Given the description of an element on the screen output the (x, y) to click on. 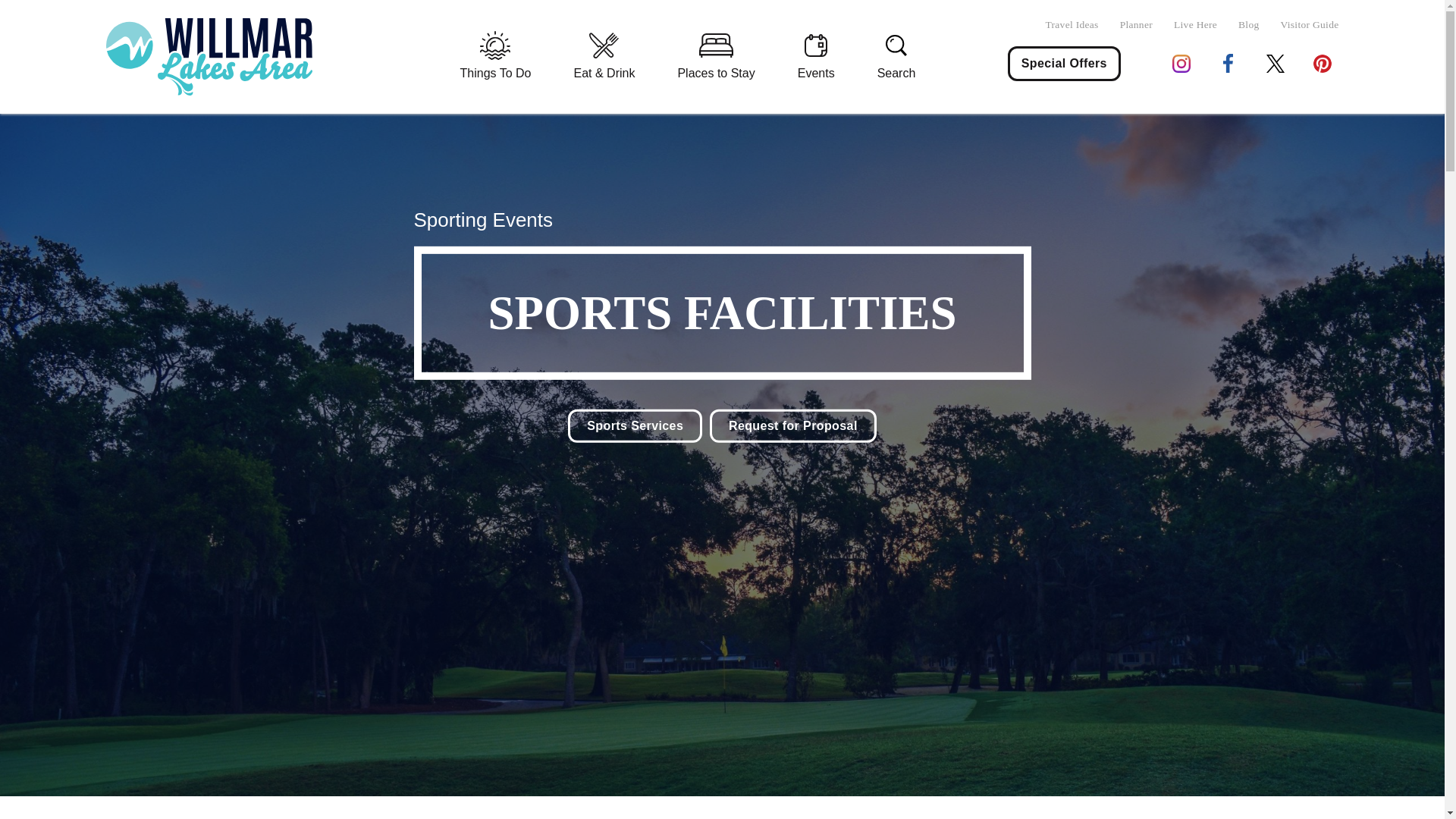
Places to Stay (715, 58)
Things To Do (495, 58)
Events (816, 58)
